Given the description of an element on the screen output the (x, y) to click on. 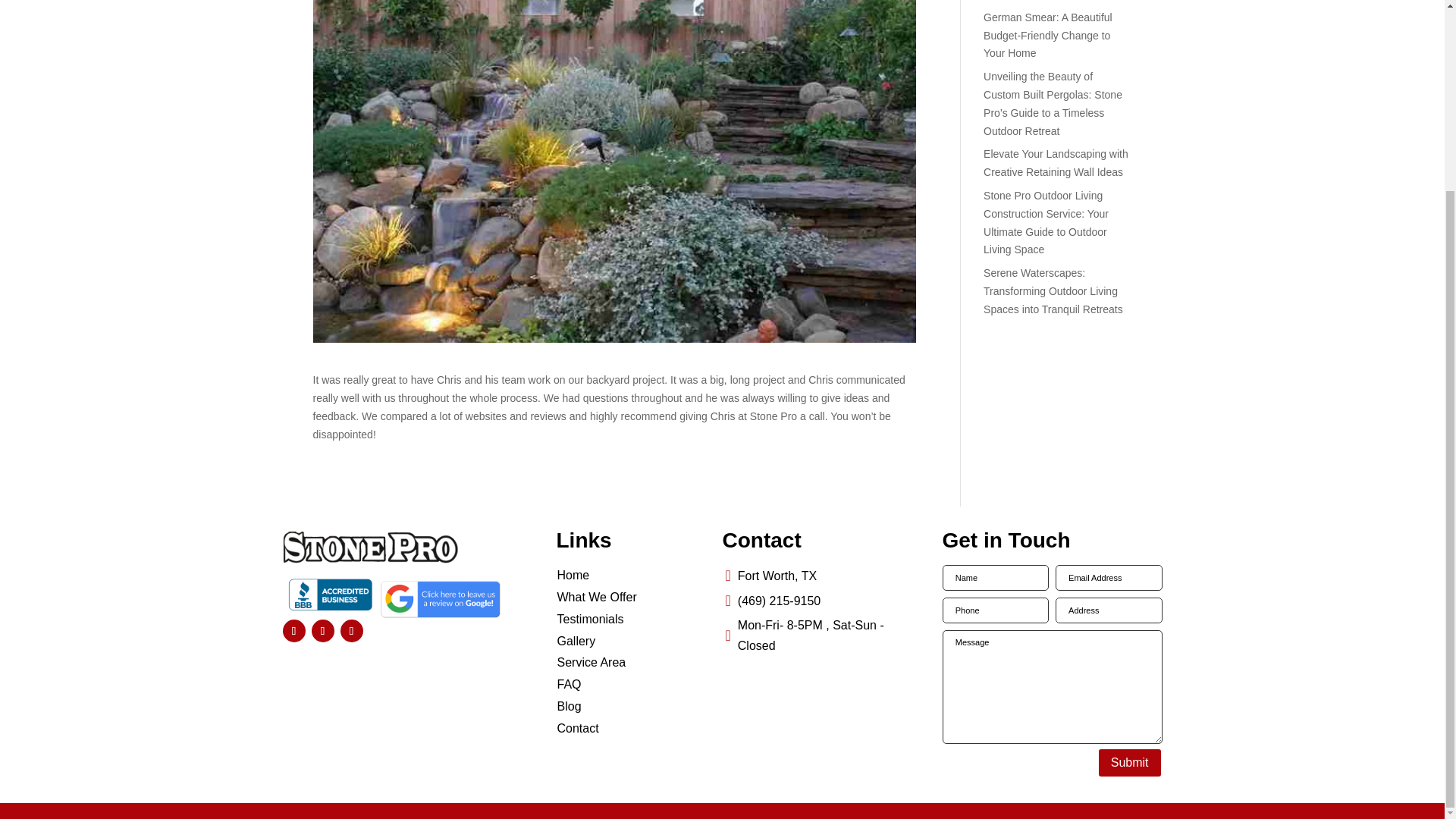
google (440, 598)
download (330, 594)
Follow on Facebook (293, 630)
Follow on X (322, 630)
Follow on Youtube (350, 630)
logo (370, 546)
